Given the description of an element on the screen output the (x, y) to click on. 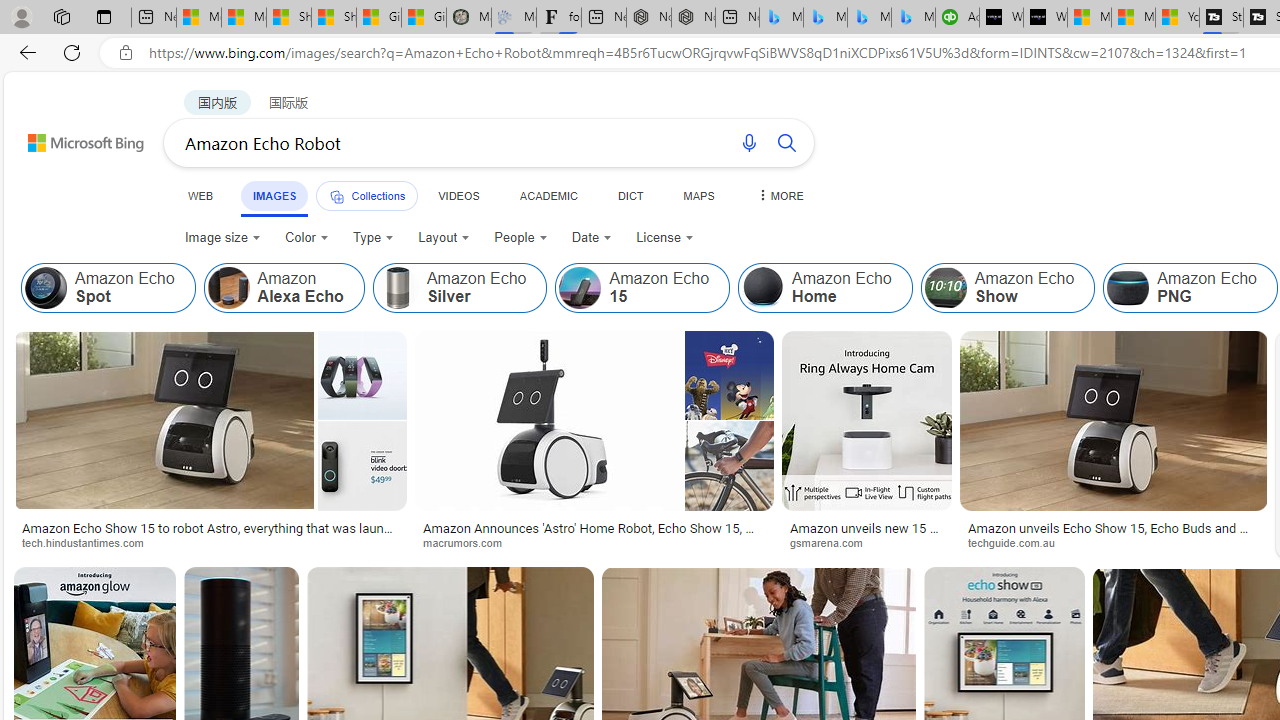
Amazon Echo Silver (397, 287)
Amazon Alexa Echo (283, 287)
gsmarena.com (832, 541)
Color (305, 237)
Image result for Amazon Echo Robot (1114, 421)
Amazon Echo Home (824, 287)
IMAGES (274, 196)
Microsoft Bing Travel - Shangri-La Hotel Bangkok (913, 17)
Amazon Echo 15 (580, 287)
Amazon Echo Show (1007, 287)
License (664, 237)
tech.hindustantimes.com (89, 541)
